Given the description of an element on the screen output the (x, y) to click on. 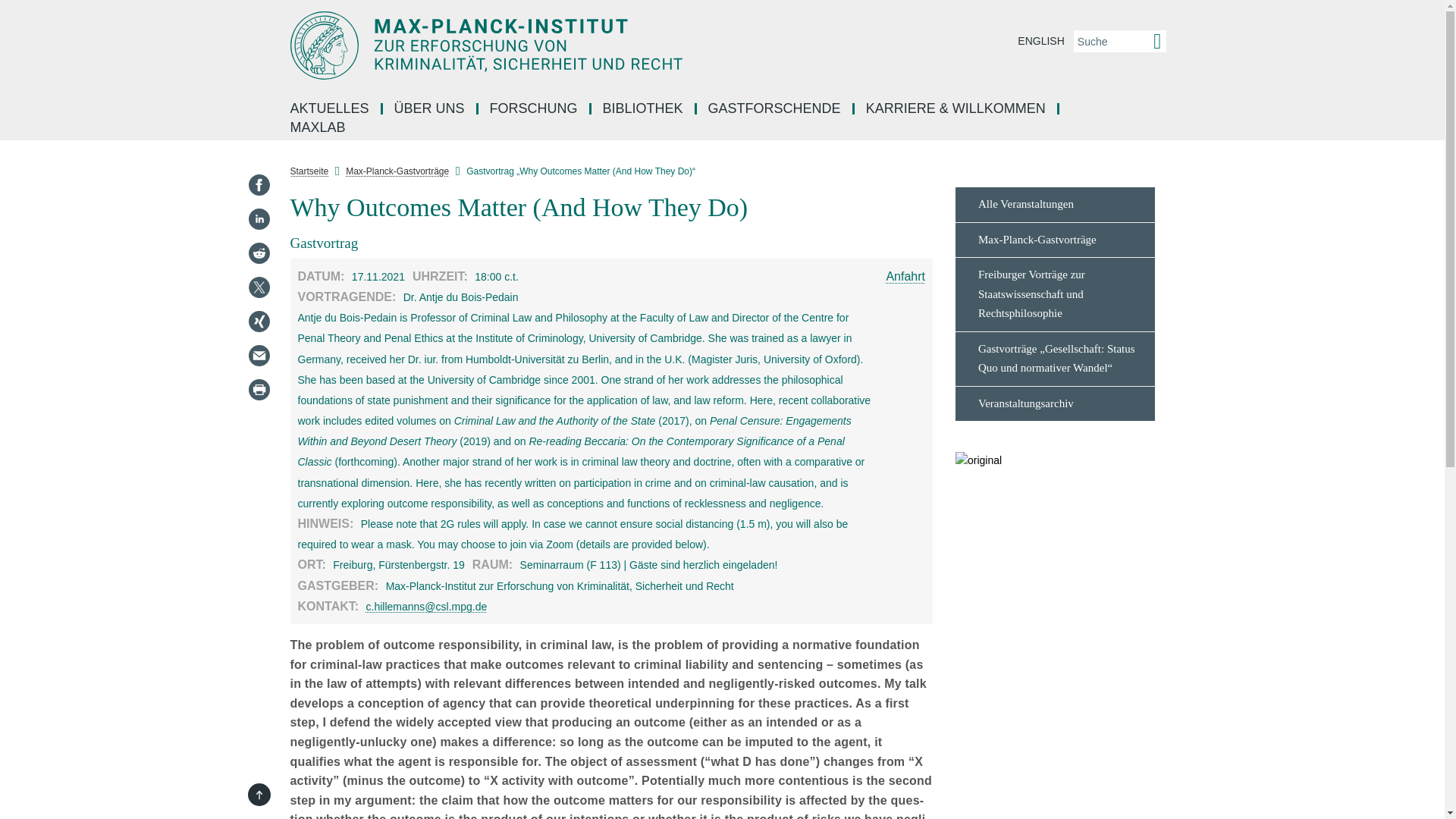
Xing (258, 321)
E-Mail (258, 354)
AKTUELLES (330, 108)
ENGLISH (1039, 41)
Reddit (258, 252)
Facebook (258, 184)
FORSCHUNG (535, 108)
Print (258, 389)
Twitter (258, 287)
LinkedIn (258, 219)
